Given the description of an element on the screen output the (x, y) to click on. 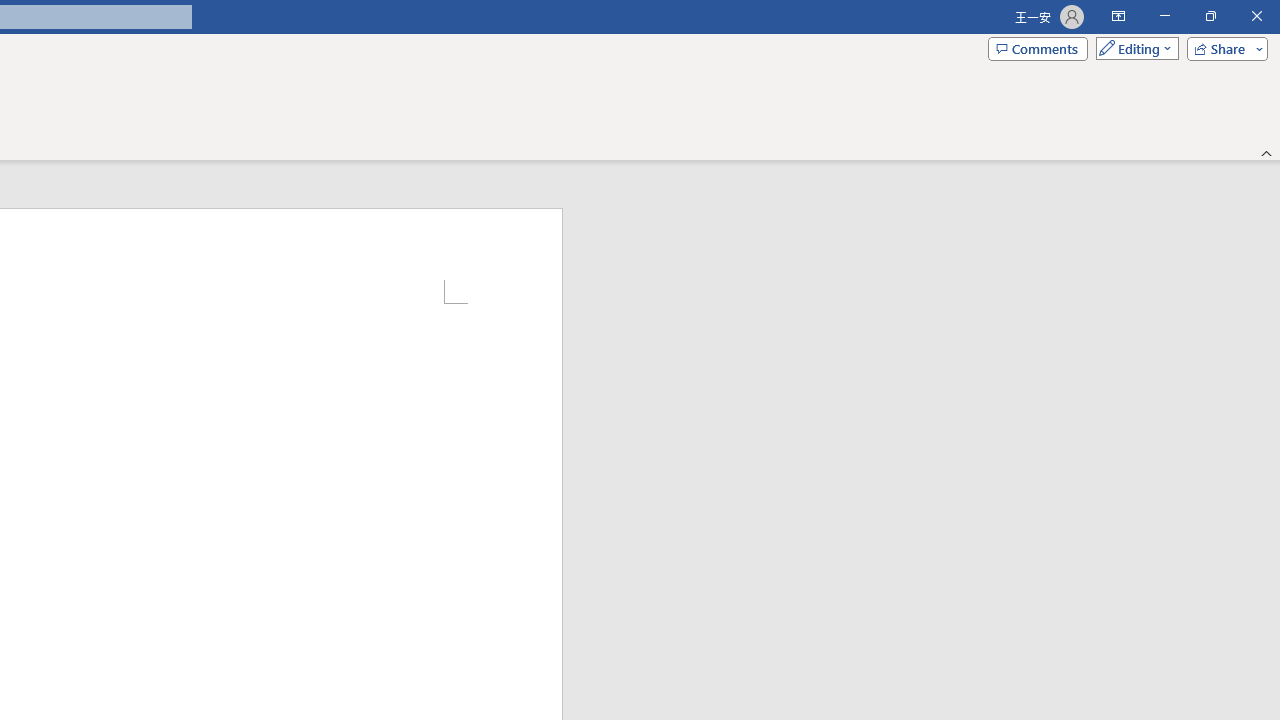
Close (1256, 16)
Comments (1038, 48)
Mode (1133, 47)
Minimize (1164, 16)
Share (1223, 48)
Ribbon Display Options (1118, 16)
Restore Down (1210, 16)
Collapse the Ribbon (1267, 152)
